Given the description of an element on the screen output the (x, y) to click on. 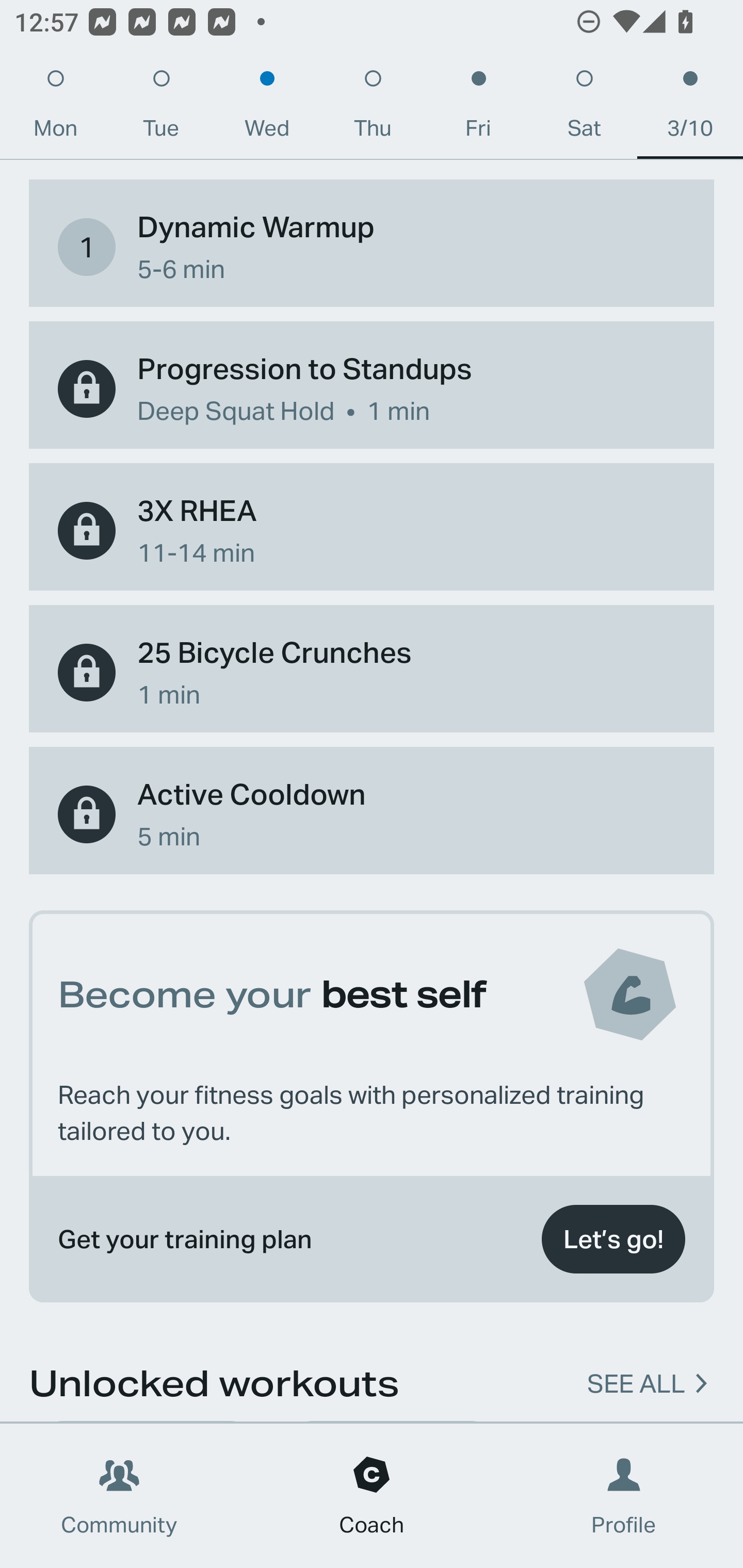
Mon (55, 108)
Tue (160, 108)
Wed (266, 108)
Thu (372, 108)
Fri (478, 108)
Sat (584, 108)
3/10 (690, 108)
1 Dynamic Warmup 5-6 min (371, 246)
Progression to Standups Deep Squat Hold  •  1 min (371, 388)
3X RHEA 11-14 min (371, 530)
25 Bicycle Crunches 1 min (371, 672)
Active Cooldown 5 min (371, 814)
Let’s go! (613, 1239)
SEE ALL (635, 1381)
Community (119, 1495)
Profile (624, 1495)
